Given the description of an element on the screen output the (x, y) to click on. 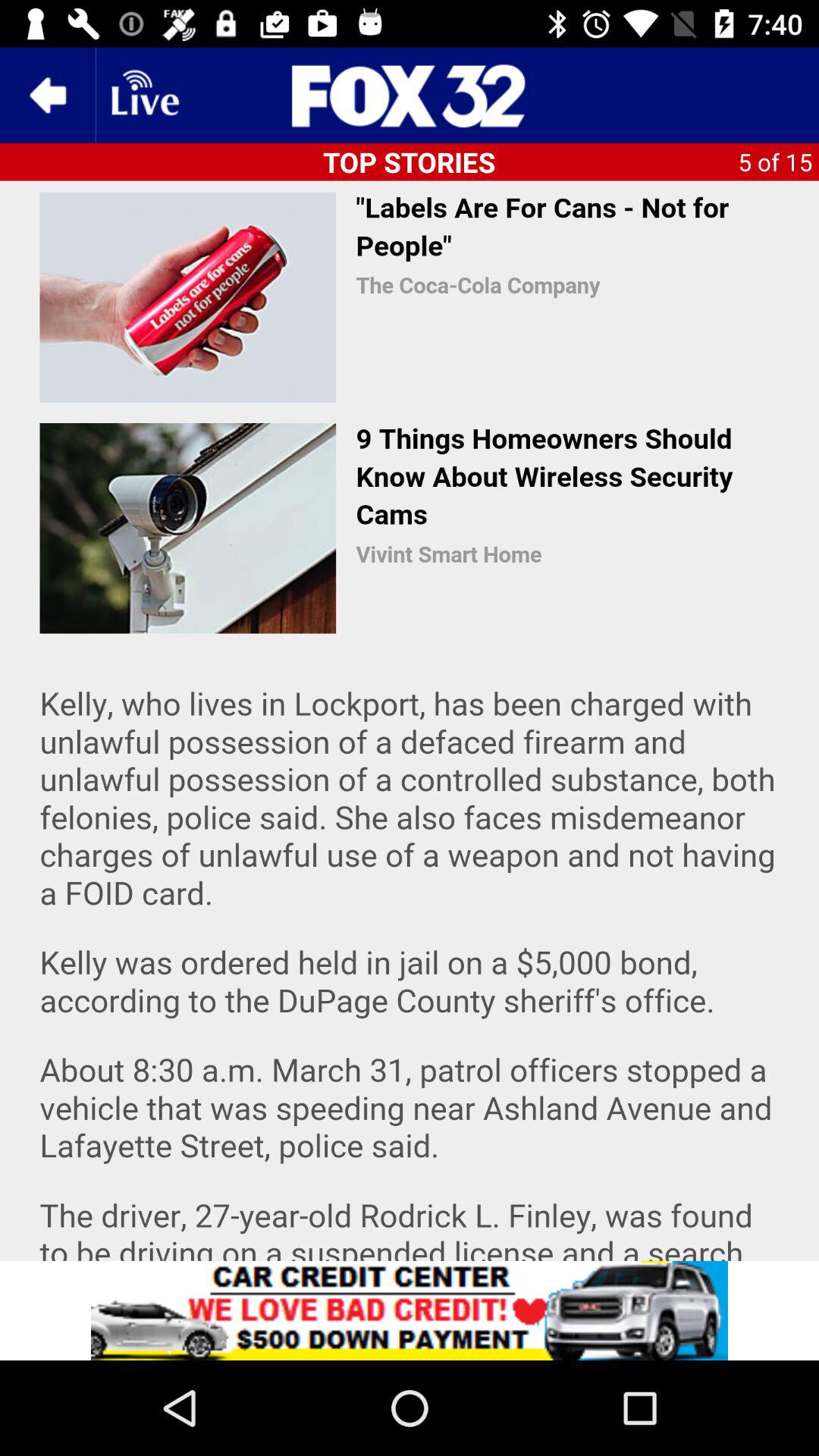
live news (143, 95)
